Given the description of an element on the screen output the (x, y) to click on. 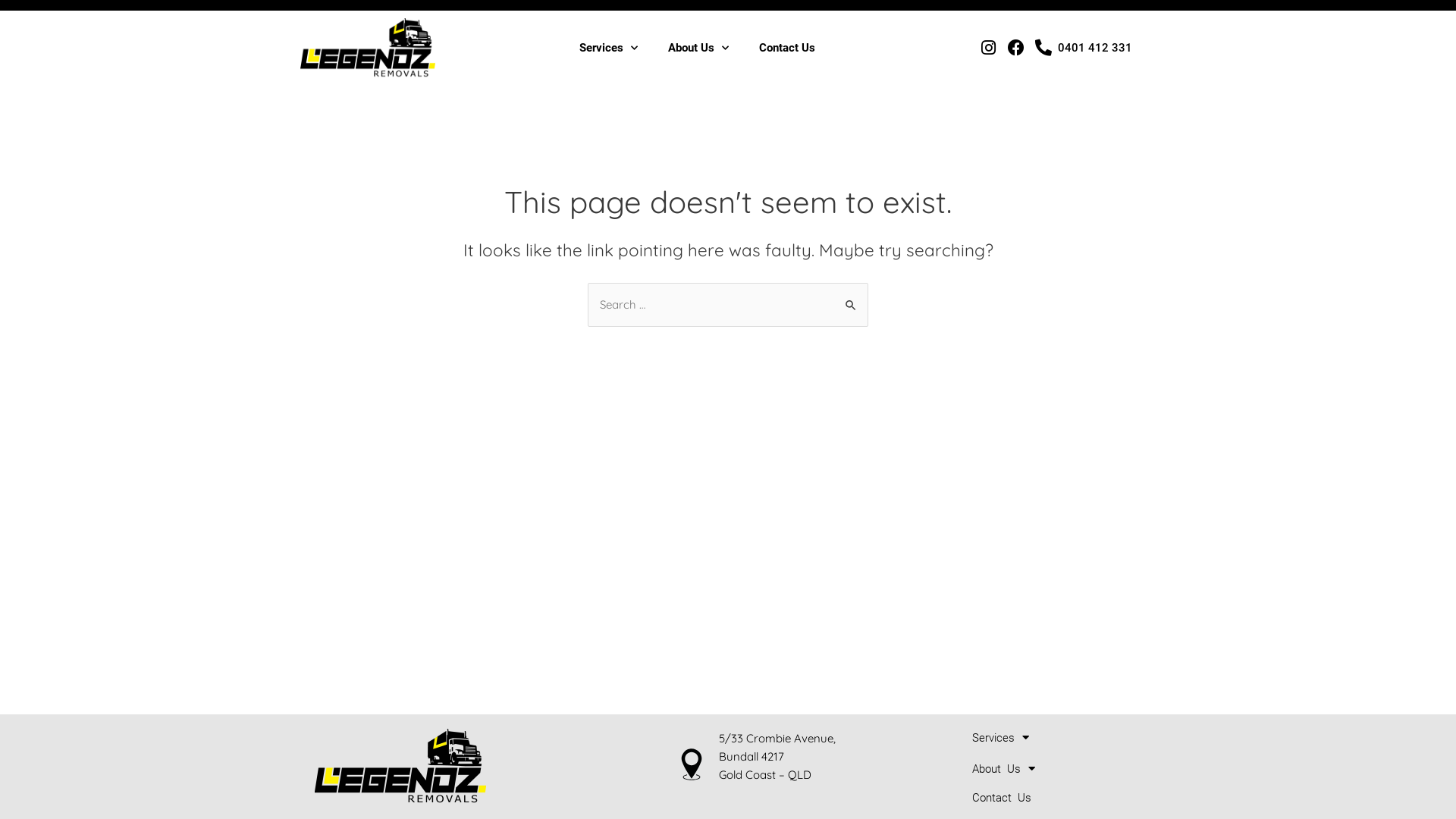
legendz_logo Element type: hover (400, 766)
Contact Us Element type: text (1062, 797)
Contact Us Element type: text (786, 47)
Services Element type: text (608, 47)
About Us Element type: text (697, 47)
About Us Element type: text (1062, 768)
Services Element type: text (1062, 737)
legendz_logo Element type: hover (368, 48)
0401 412 331 Element type: text (1082, 47)
Search Element type: text (851, 297)
